Given the description of an element on the screen output the (x, y) to click on. 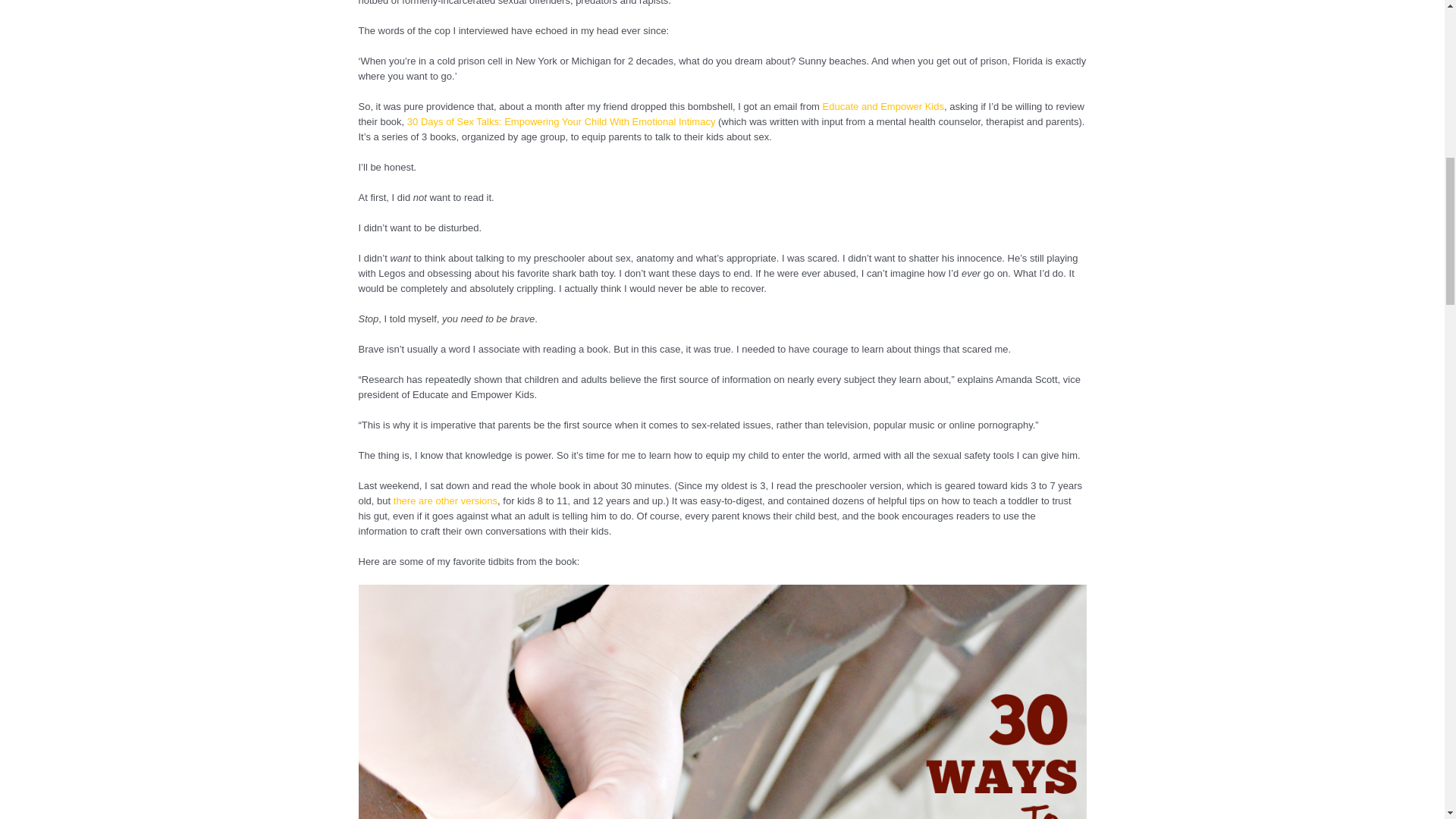
there are other versions (445, 500)
Educate and Empower Kids (882, 106)
